Given the description of an element on the screen output the (x, y) to click on. 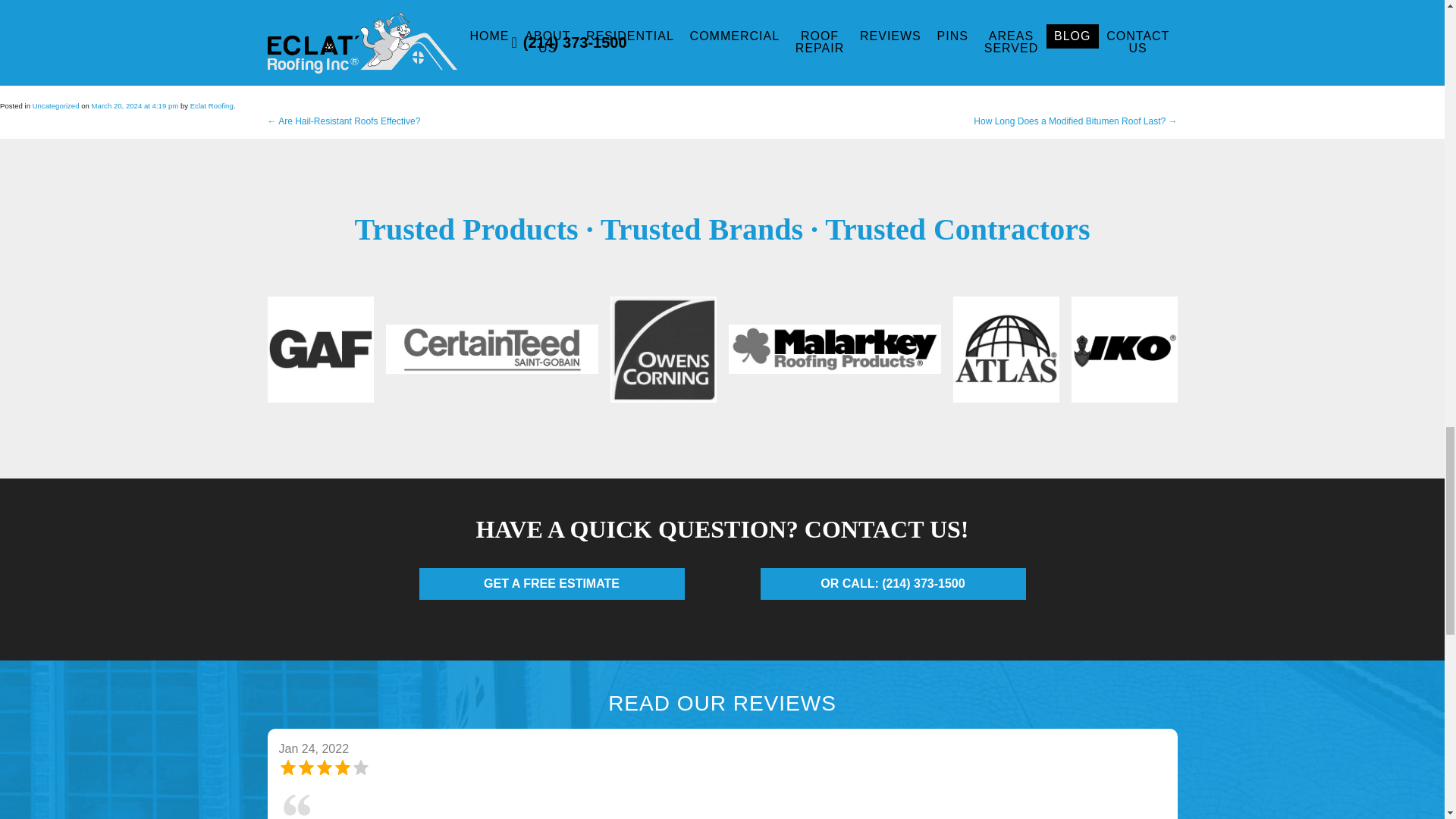
View all posts by Eclat Roofing (211, 105)
4:19 PM (135, 105)
